Given the description of an element on the screen output the (x, y) to click on. 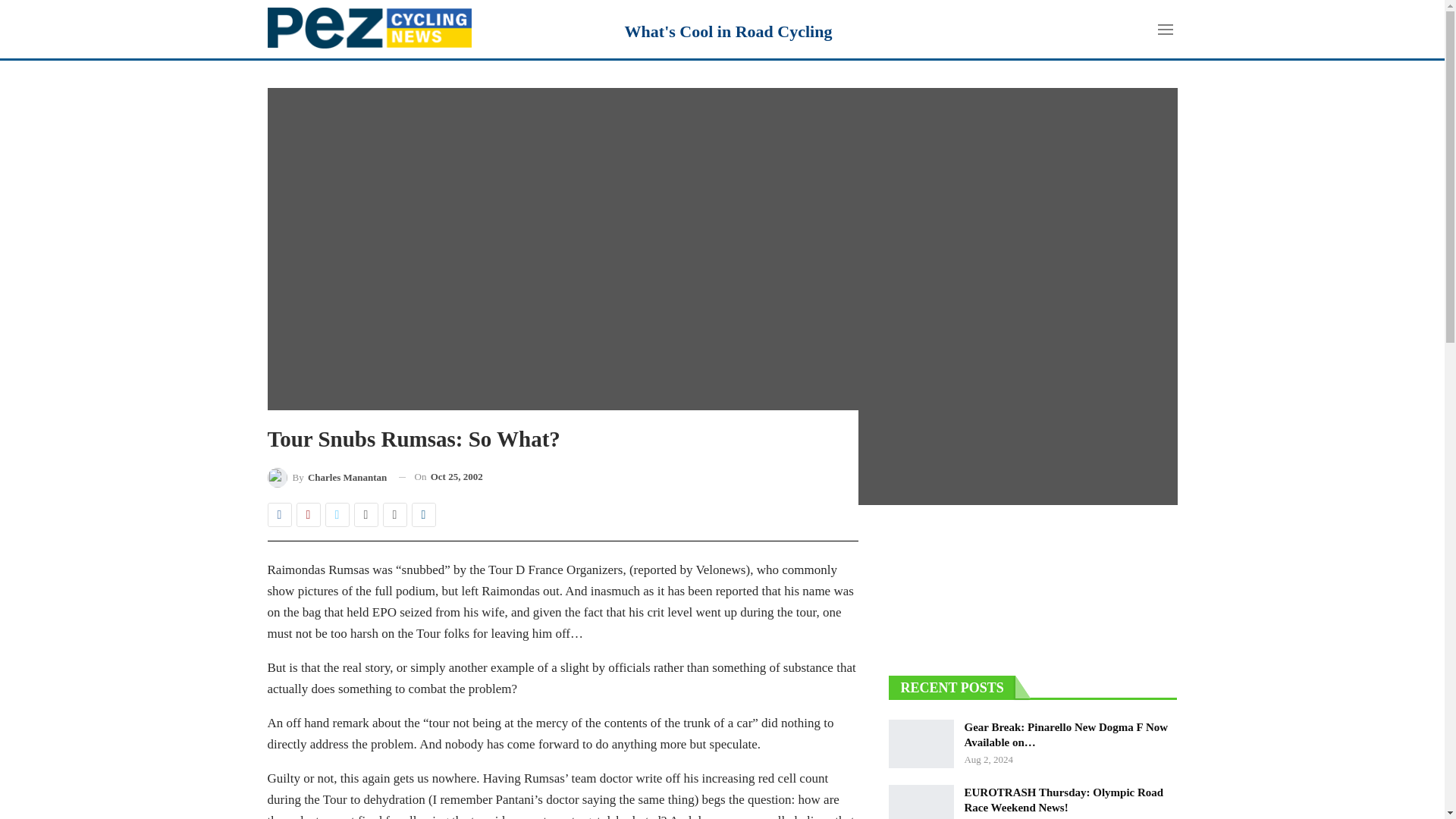
By Charles Manantan (326, 476)
Browse Author Articles (326, 476)
